Given the description of an element on the screen output the (x, y) to click on. 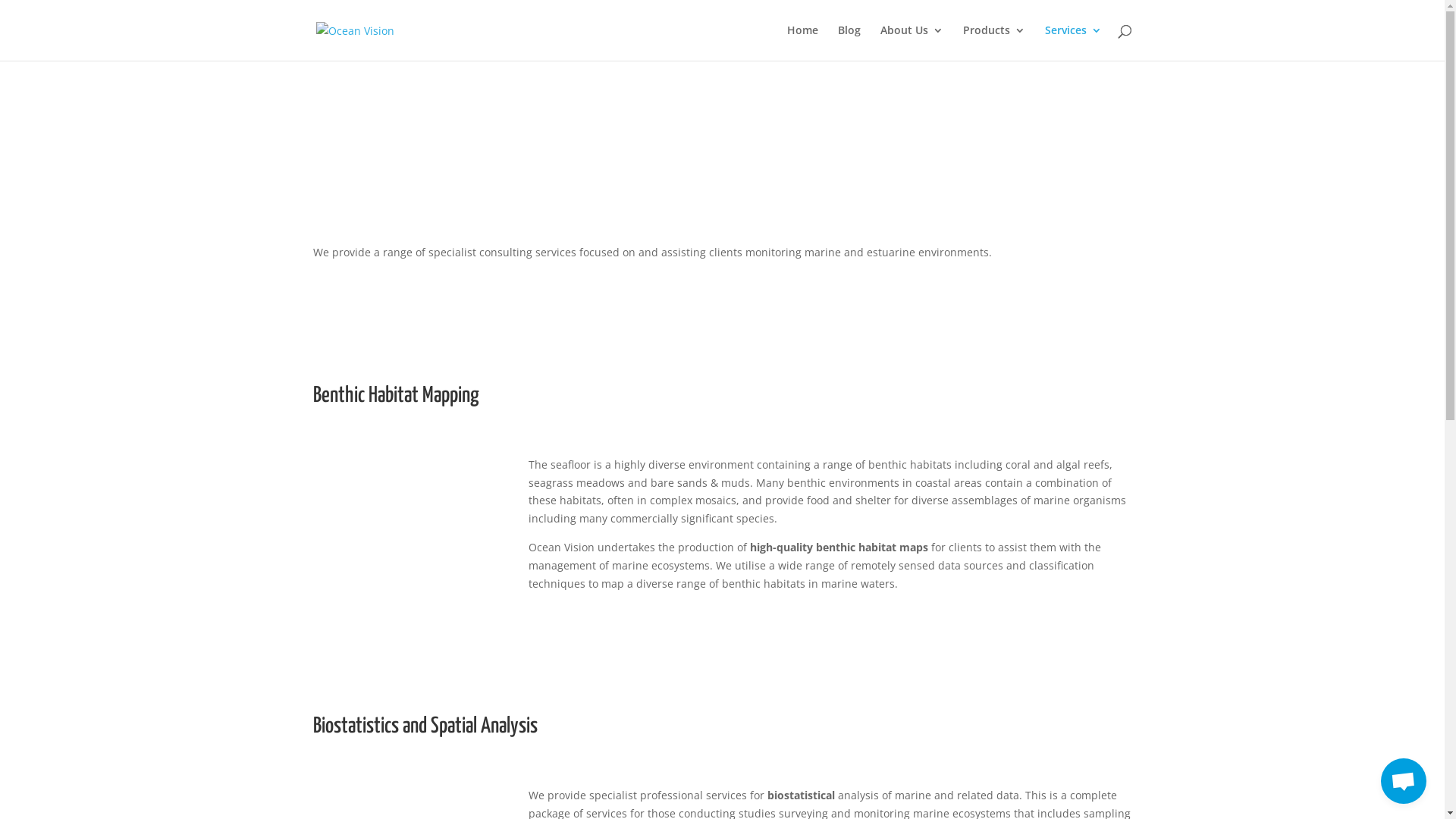
Biostatistics and Spatial Analysis Element type: text (424, 726)
Products Element type: text (994, 42)
About Us Element type: text (910, 42)
Home Element type: text (802, 42)
Benthic Habitat Mapping Element type: text (395, 395)
Blog Element type: text (848, 42)
Services Element type: text (1072, 42)
